Given the description of an element on the screen output the (x, y) to click on. 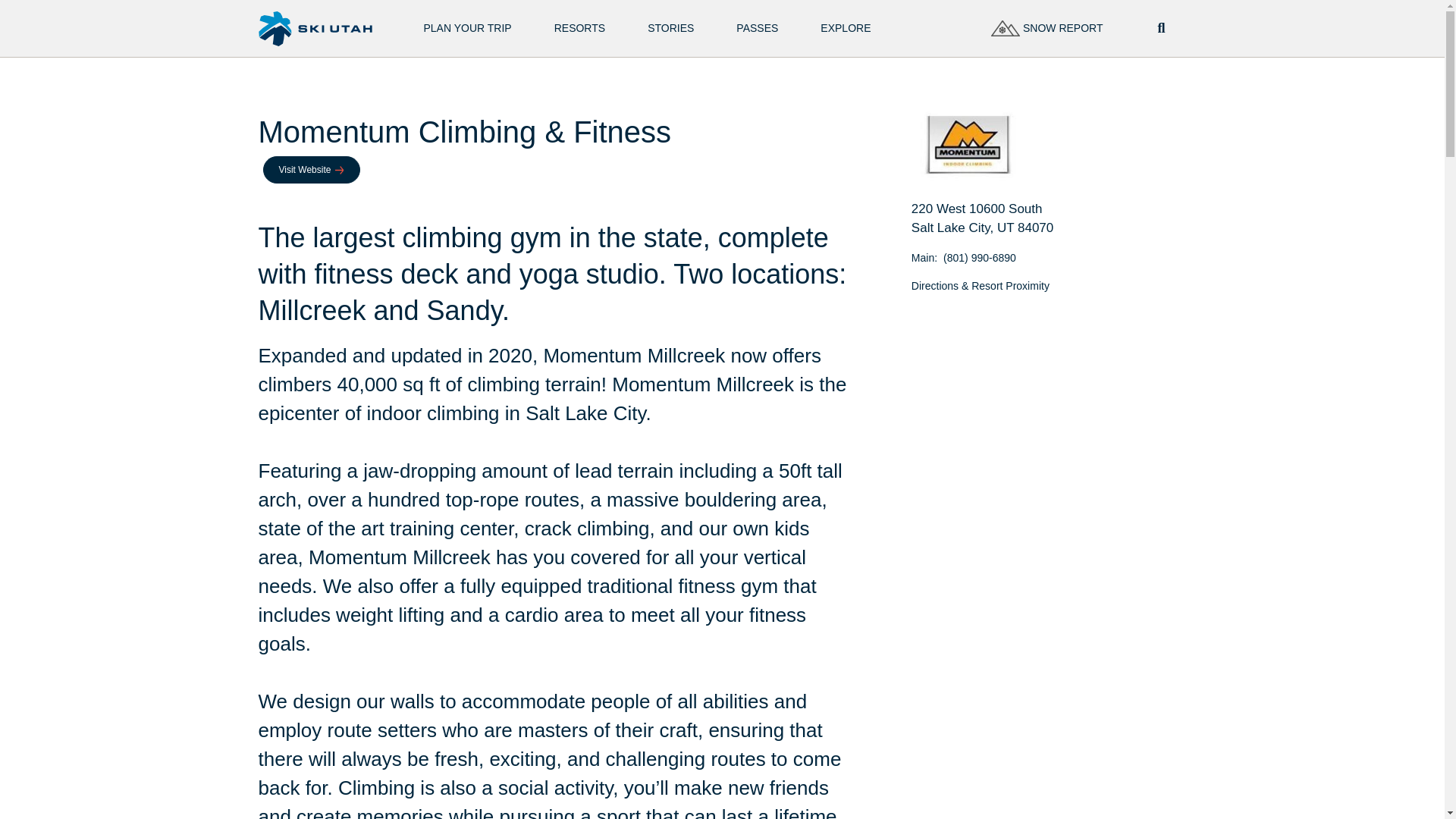
PLAN YOUR TRIP (466, 28)
